Given the description of an element on the screen output the (x, y) to click on. 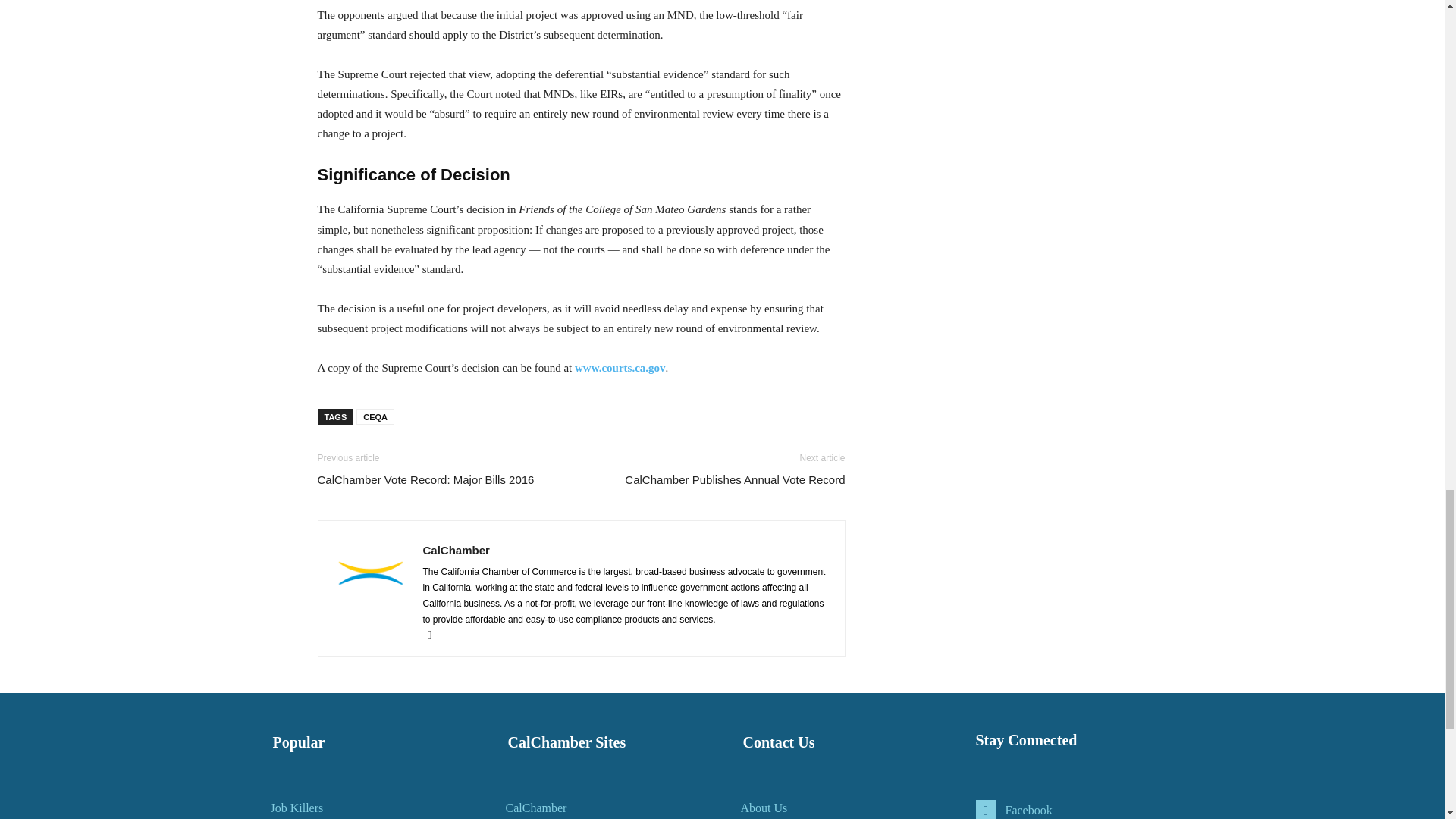
CEQA (375, 417)
CalChamber Vote Record: Major Bills 2016 (425, 479)
CalChamber (456, 549)
CalChamber Publishes Annual Vote Record (734, 479)
www.courts.ca.gov (620, 367)
